Given the description of an element on the screen output the (x, y) to click on. 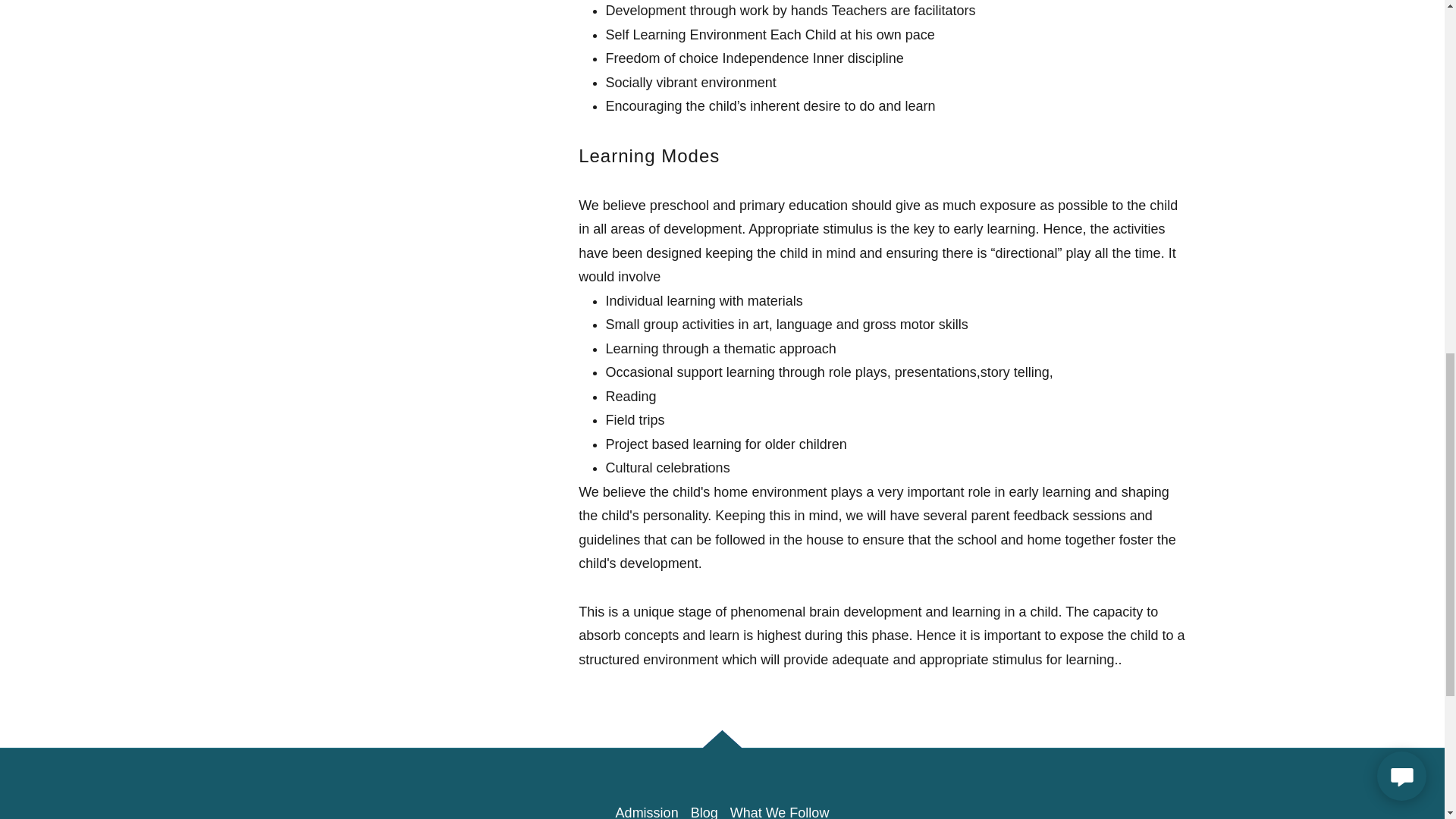
Blog (703, 807)
Admission (647, 807)
What We Follow (779, 807)
DECLINE (1203, 322)
